Given the description of an element on the screen output the (x, y) to click on. 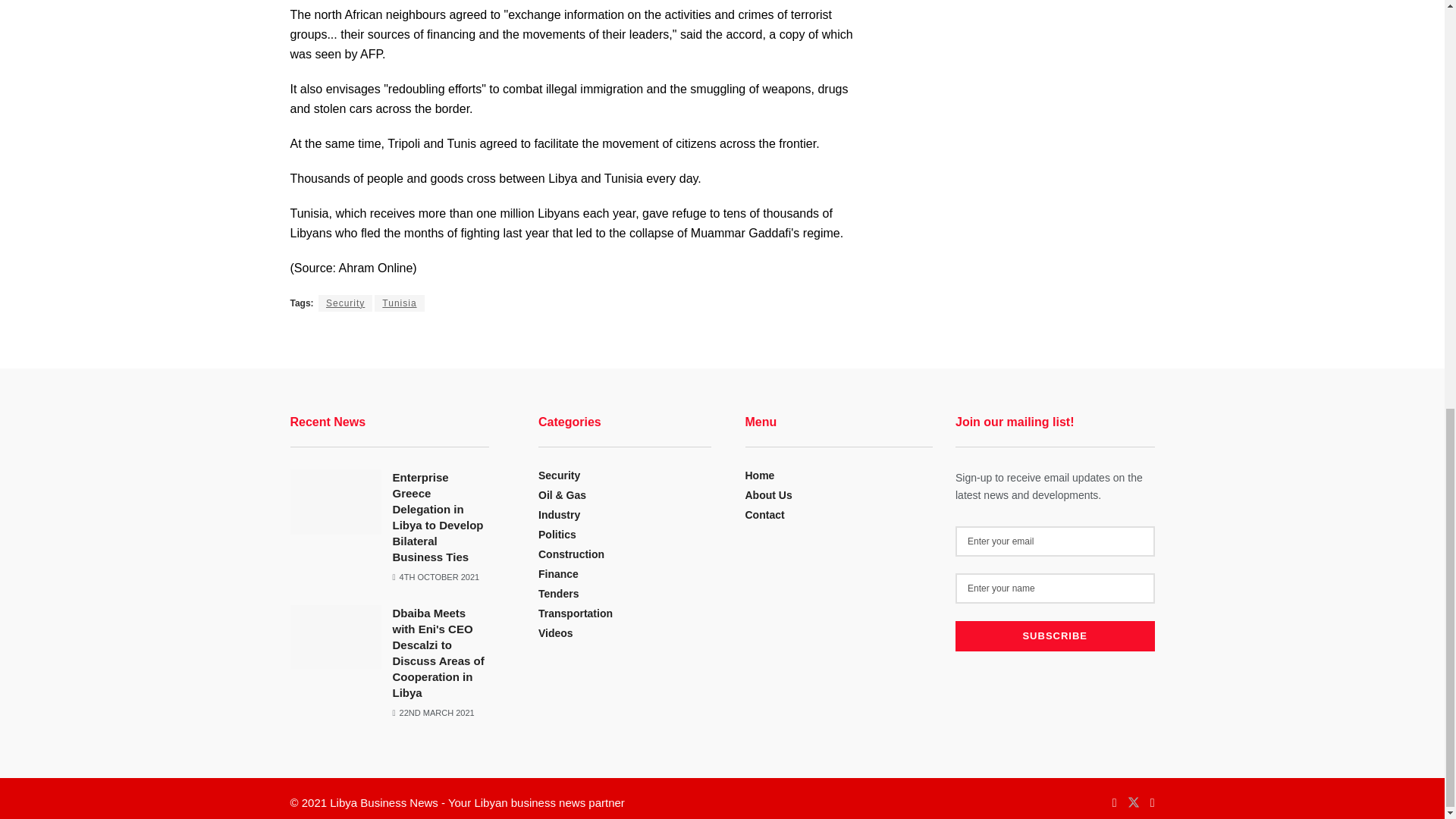
Enter your email (1054, 541)
Libya Business News (384, 802)
Enter your name (1054, 588)
Security (345, 303)
Tunisia (398, 303)
Subscribe (1054, 635)
